Given the description of an element on the screen output the (x, y) to click on. 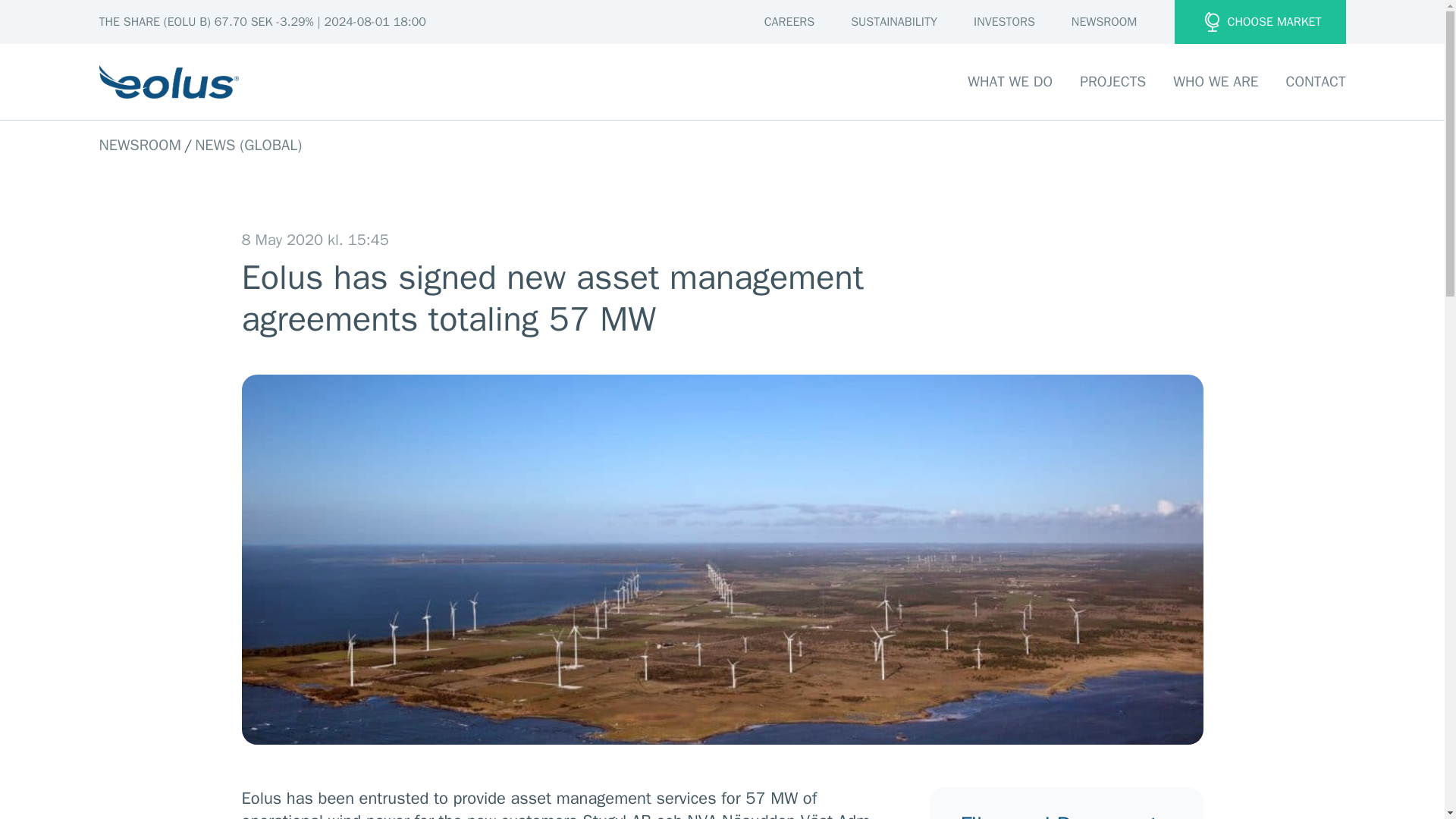
SUSTAINABILITY (893, 21)
CAREERS (788, 21)
INVESTORS (1003, 21)
